Given the description of an element on the screen output the (x, y) to click on. 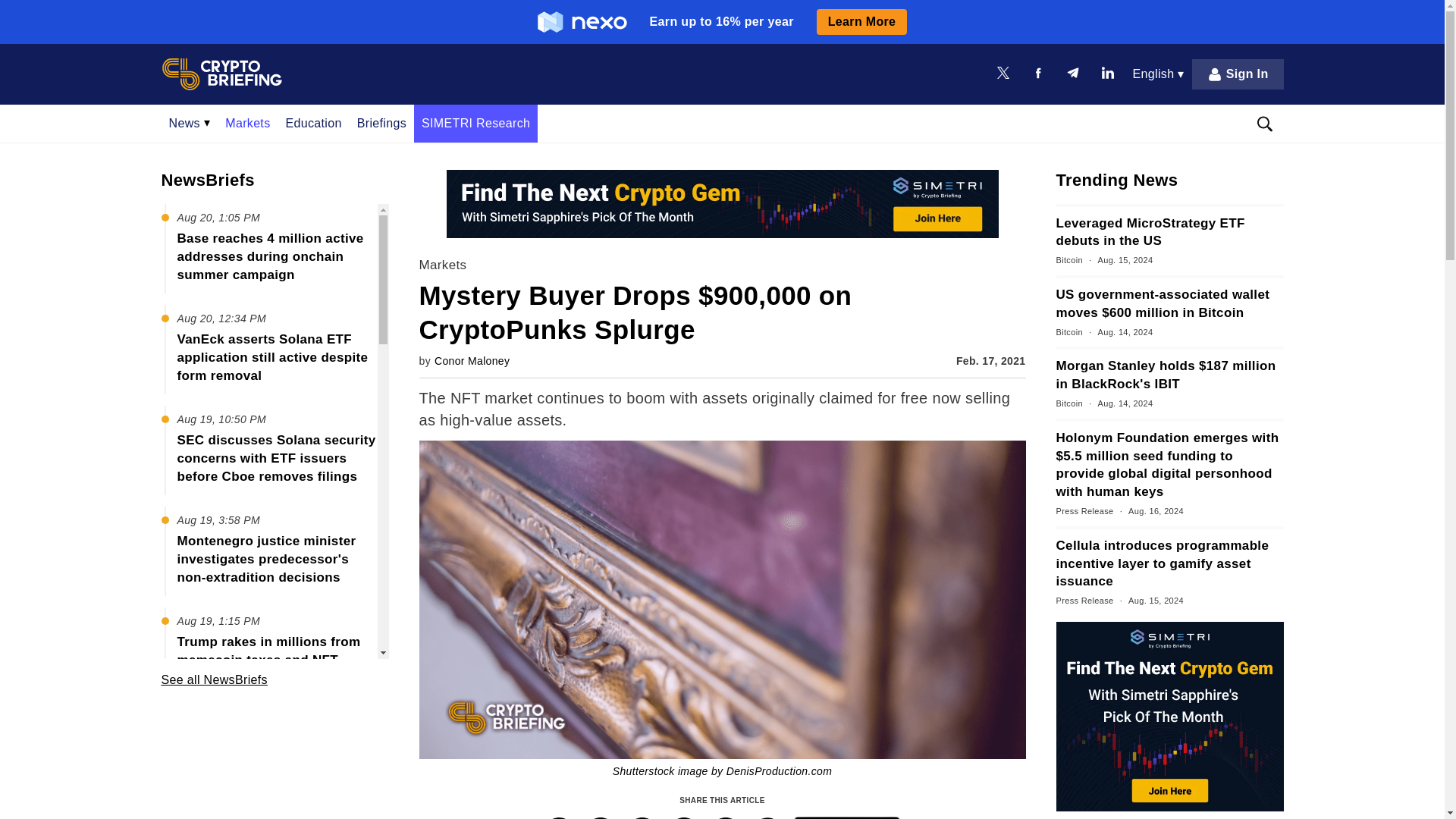
Learn More (861, 22)
Sign In (1238, 73)
News (188, 123)
Sign In (1238, 73)
